Given the description of an element on the screen output the (x, y) to click on. 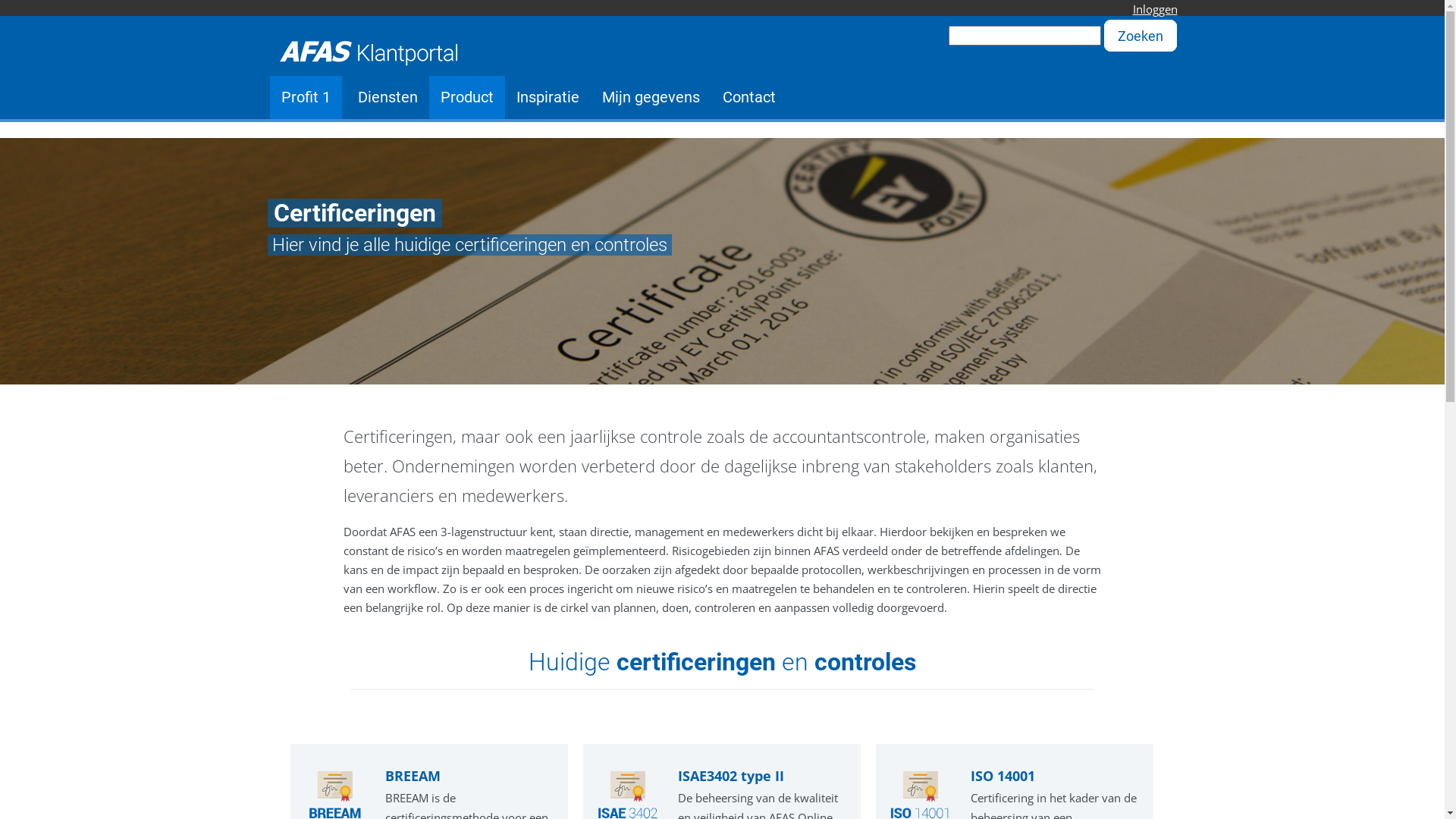
Contact Element type: text (749, 97)
Profit 1 Element type: text (305, 97)
Product Element type: text (467, 97)
Inloggen Element type: text (1154, 9)
Inspiratie Element type: text (547, 97)
Zoeken Element type: text (1139, 35)
Mijn gegevens Element type: text (649, 97)
Diensten Element type: text (386, 97)
